Given the description of an element on the screen output the (x, y) to click on. 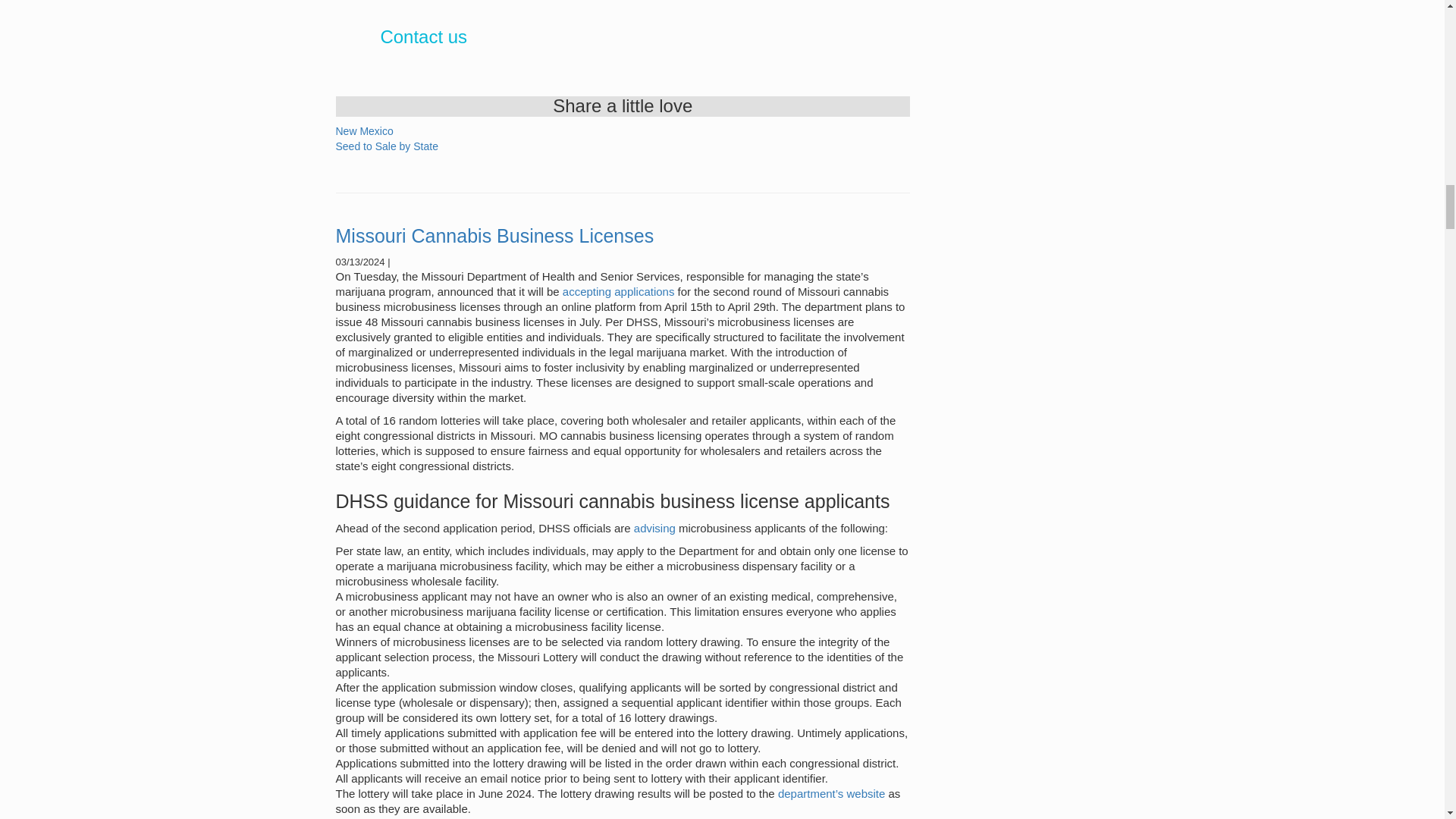
Seed to Sale by State (386, 146)
Missouri Cannabis Business Licenses (493, 235)
New Mexico (363, 131)
Missouri Cannabis Business Licenses (493, 235)
Contact us (423, 36)
accepting applications  (620, 291)
advising (654, 527)
